Given the description of an element on the screen output the (x, y) to click on. 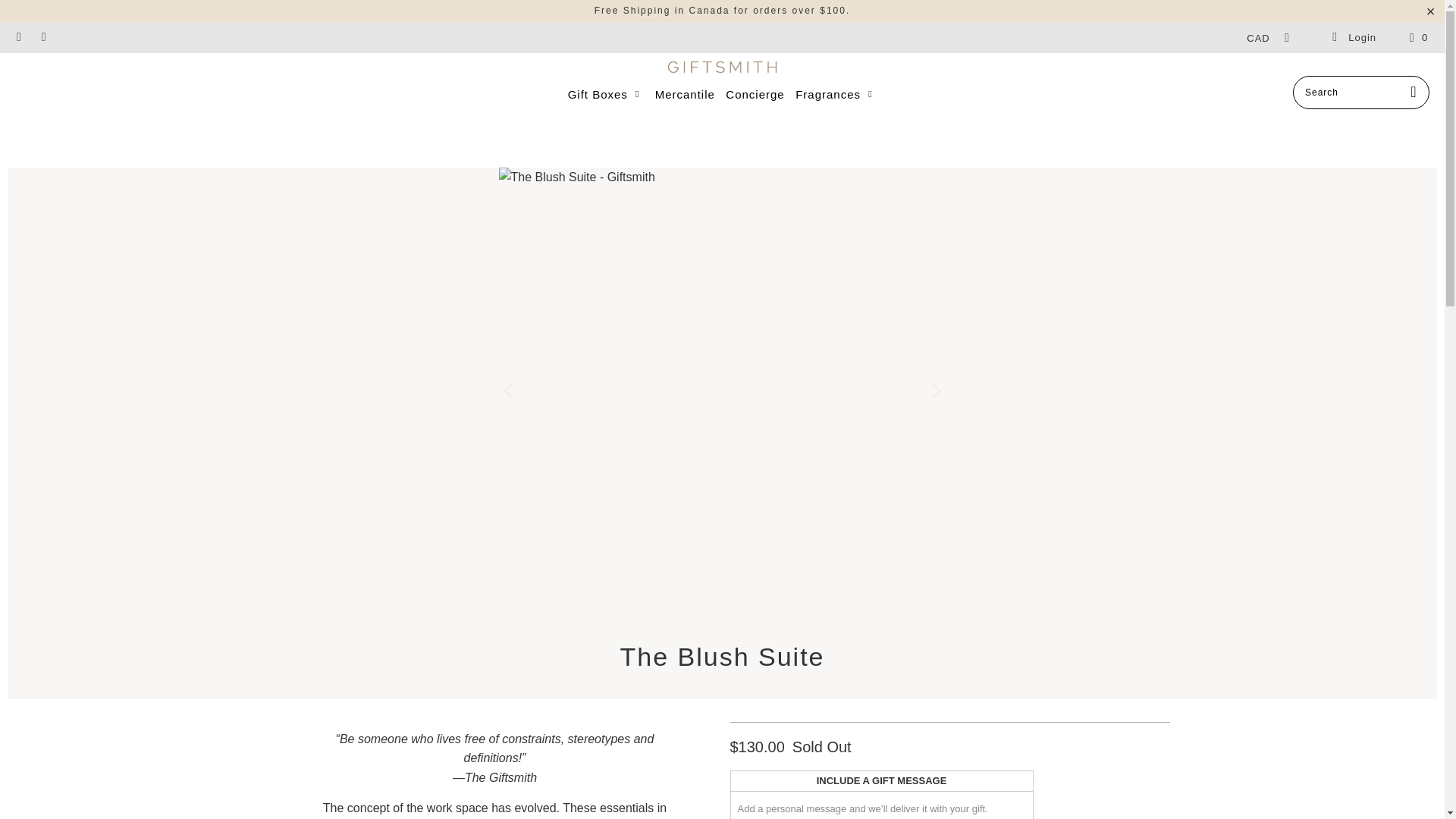
Email Giftsmith (42, 37)
My Account  (1353, 37)
Giftsmith on Instagram (17, 37)
Giftsmith (721, 68)
